Given the description of an element on the screen output the (x, y) to click on. 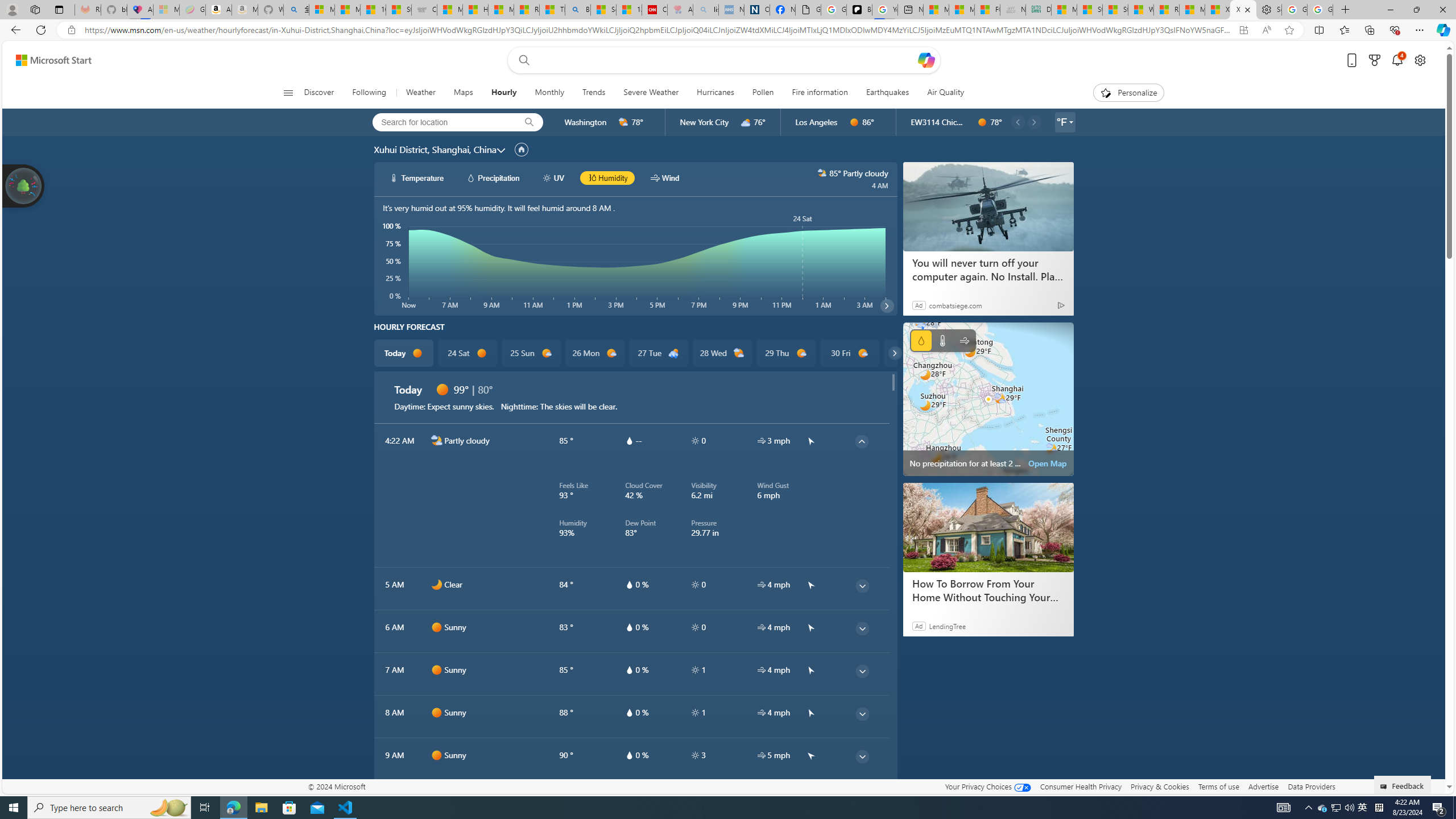
Today d0000 (403, 352)
R******* | Trusted Community Engagement and Contributions (1165, 9)
Hurricanes (715, 92)
hourlyChart/uvWhite UV (553, 178)
hourlyChart/temperatureWhite Temperature (416, 178)
Google Analytics Opt-out Browser Add-on Download Page (807, 9)
Pollen (762, 92)
29 Thu d1000 (785, 352)
